Given the description of an element on the screen output the (x, y) to click on. 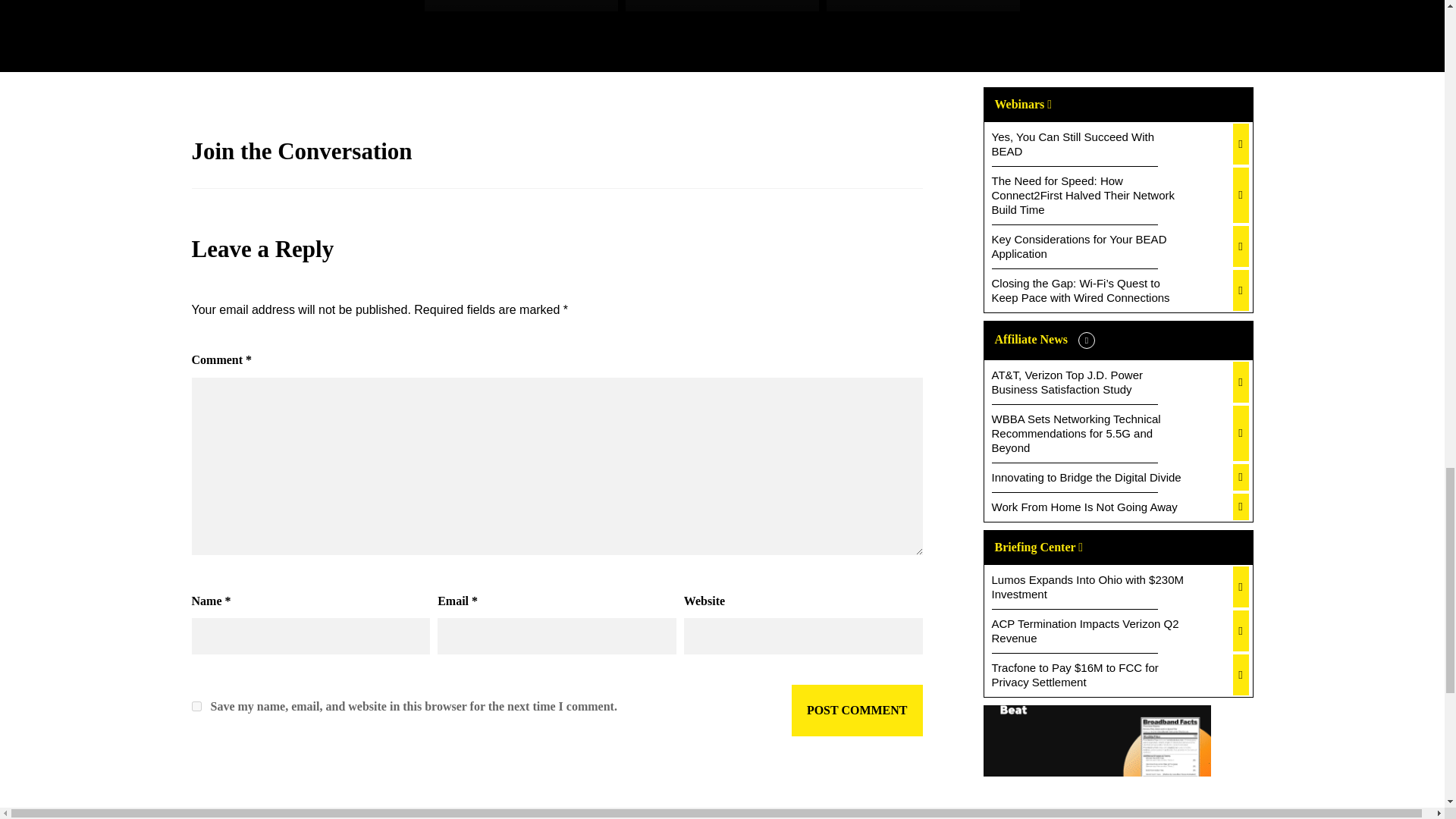
yes (195, 706)
Post Comment (857, 710)
